Given the description of an element on the screen output the (x, y) to click on. 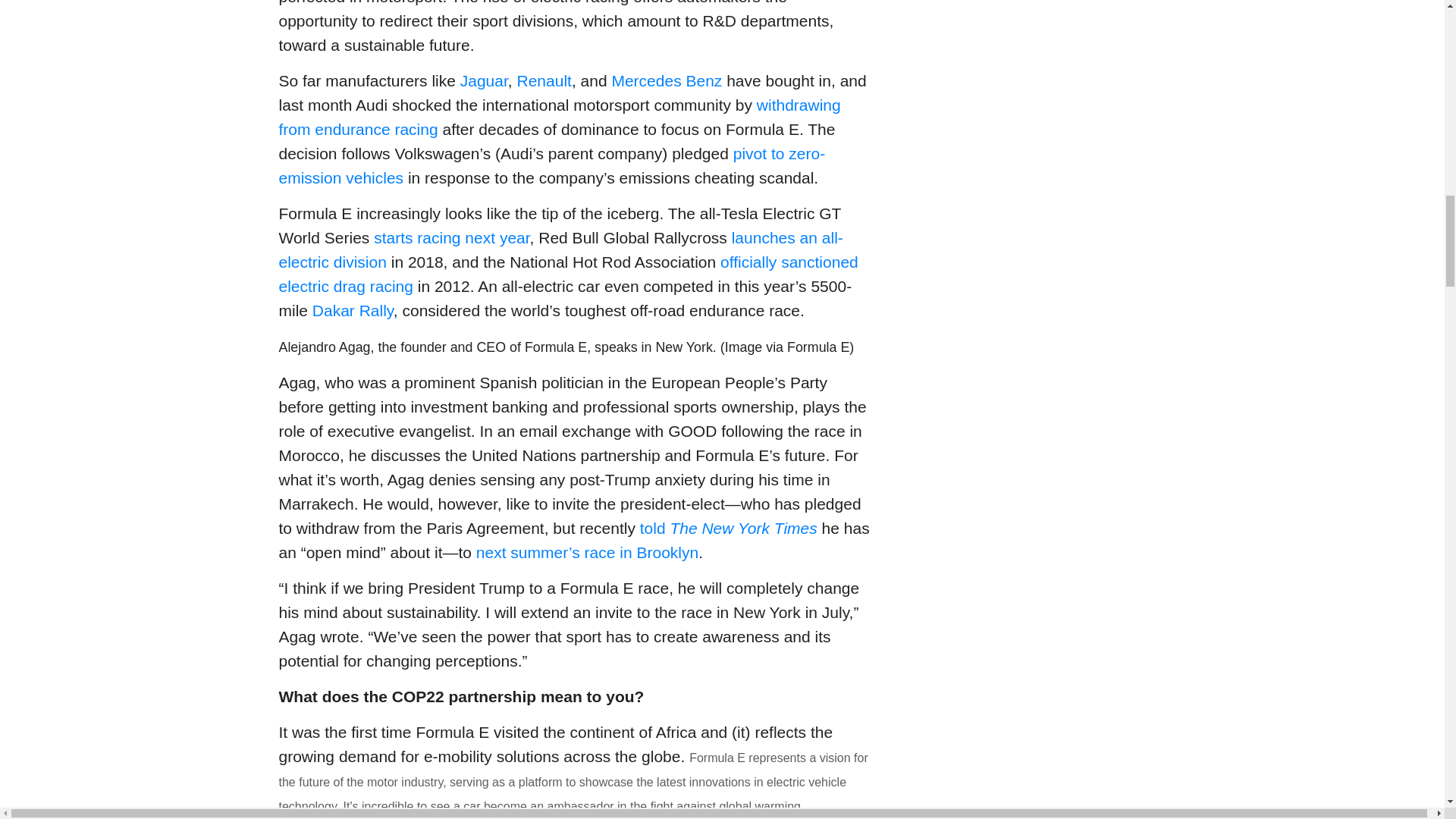
launches an all-electric division (561, 250)
starts racing next year (451, 237)
pivot to zero-emission vehicles (552, 165)
Mercedes Benz (666, 80)
Dakar Rally (353, 310)
Renault (544, 80)
officially sanctioned electric drag racing (569, 273)
withdrawing from endurance racing (560, 117)
Jaguar (484, 80)
told The New York Times (728, 528)
